Given the description of an element on the screen output the (x, y) to click on. 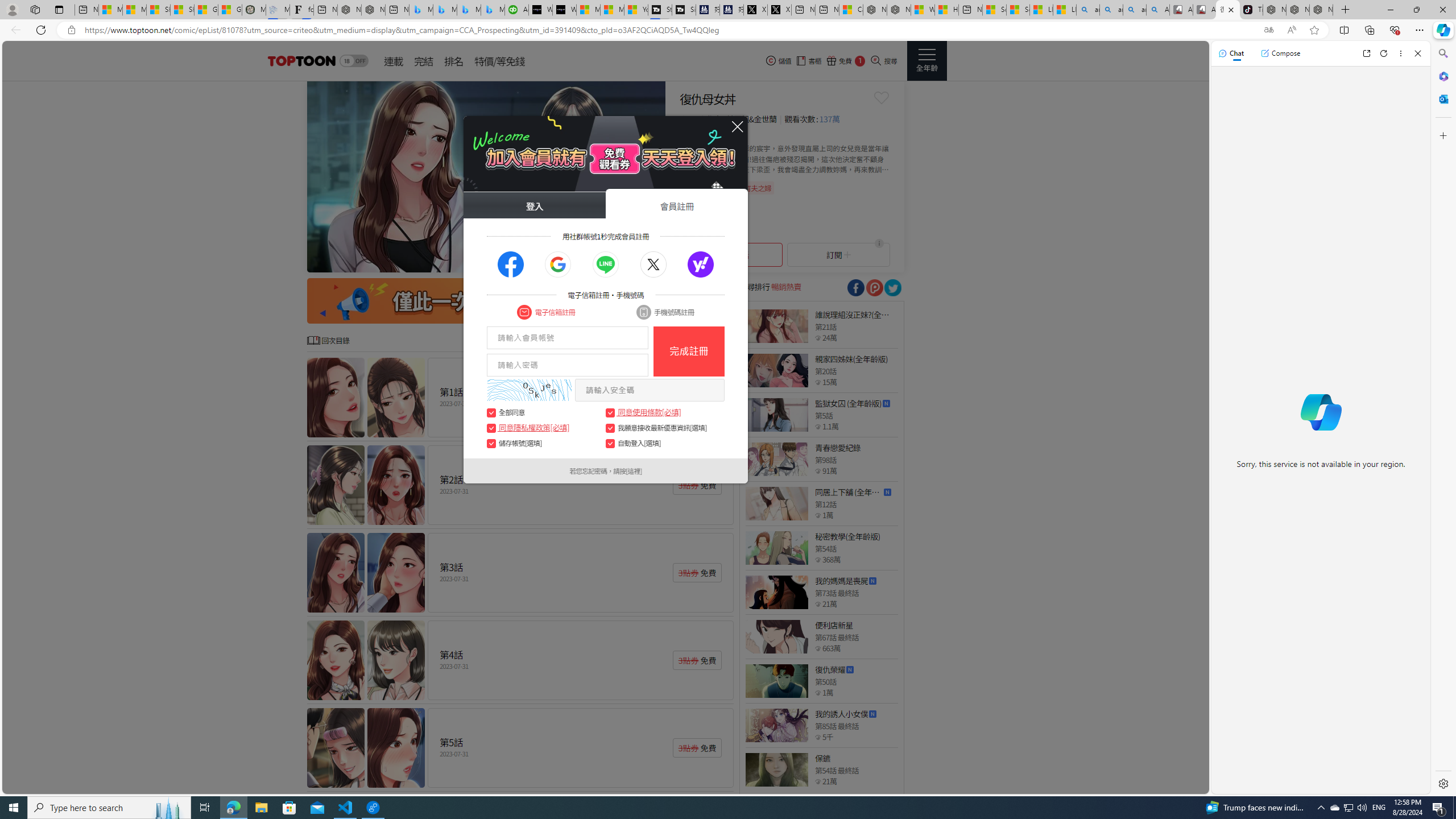
Customize (1442, 135)
Class:  switch_18mode actionAdultBtn (353, 60)
Manatee Mortality Statistics | FWC (253, 9)
Nordace Siena Pro 15 Backpack (1297, 9)
